Given the description of an element on the screen output the (x, y) to click on. 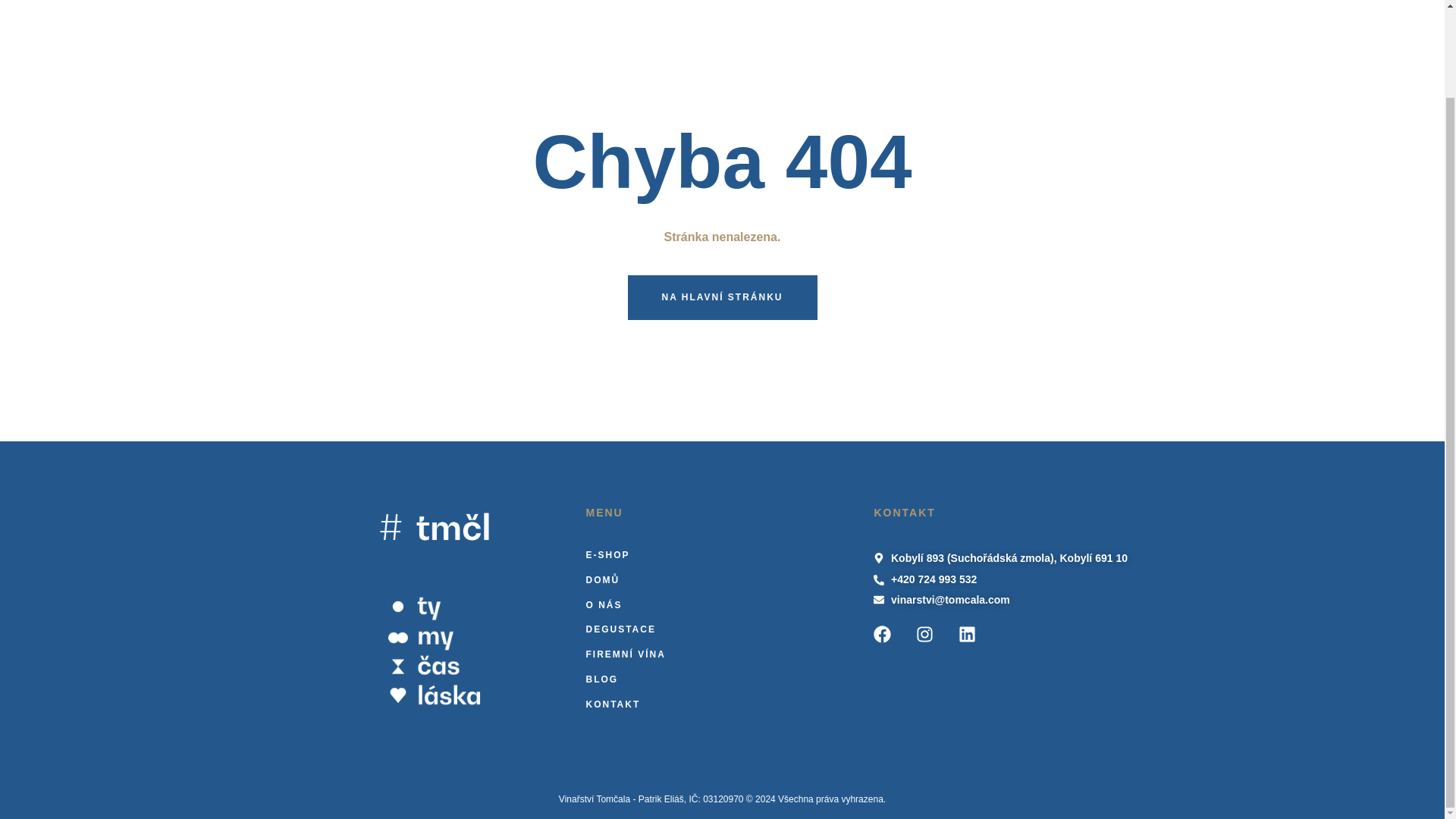
BLOG (722, 679)
DEGUSTACE (722, 629)
E-SHOP (722, 555)
KONTAKT (722, 704)
